Given the description of an element on the screen output the (x, y) to click on. 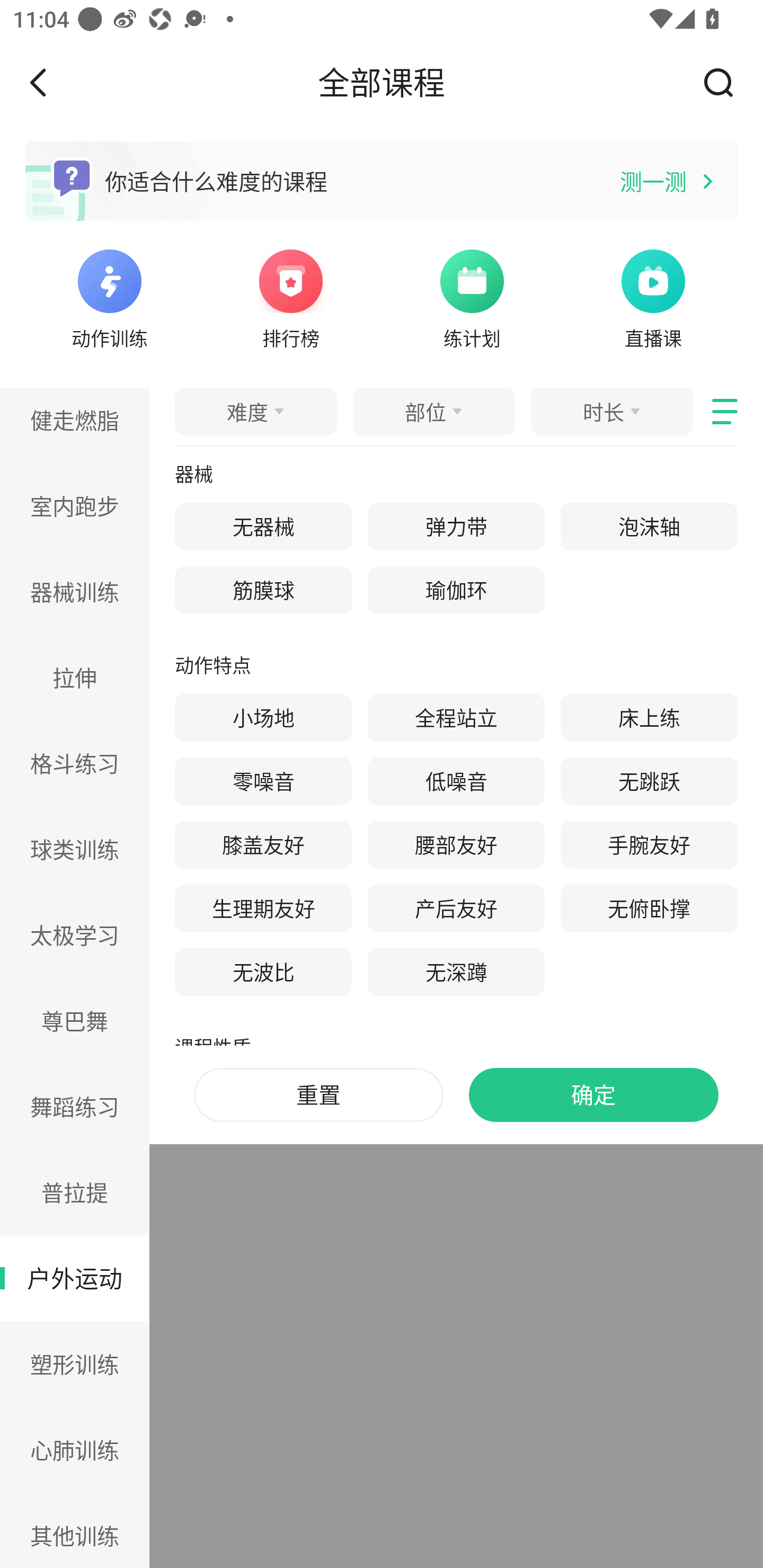
Left Button In Title Bar (50, 82)
Right Button In Title Bar (724, 82)
你适合什么难度的课程 测一测 (381, 181)
动作训练 (109, 297)
排行榜 (290, 297)
练计划 (471, 297)
直播课 (653, 297)
健走燃脂 (74, 424)
难度 (255, 411)
部位 (433, 411)
时长 (611, 411)
琉璃少女—— 轮滑教学-单脚向后，单脚向前 K3 进阶 · 1 分钟 · 暂无评分 (456, 579)
室内跑步 (74, 505)
无器械 (262, 526)
弹力带 (455, 526)
泡沫轴 (648, 526)
器械训练 (74, 591)
筋膜球 (262, 590)
瑜伽环 (455, 590)
拉伸 (74, 677)
小场地 (262, 717)
全程站立 (455, 717)
床上练 (648, 717)
格斗练习 (74, 762)
零噪音 (262, 781)
低噪音 (455, 781)
无跳跃 (648, 781)
球类训练 (74, 848)
膝盖友好 (262, 844)
腰部友好 (455, 844)
手腕友好 (648, 844)
生理期友好 (262, 908)
产后友好 (455, 908)
无俯卧撑 (648, 908)
太极学习 (74, 935)
无波比 (262, 971)
无深蹲 (455, 971)
尊巴舞 (74, 1020)
舞蹈练习 (74, 1106)
重置 (318, 1094)
确定 (593, 1094)
普拉提 (74, 1192)
户外运动 (74, 1278)
塑形训练 (74, 1363)
心肺训练 (74, 1449)
其他训练 (74, 1530)
